Given the description of an element on the screen output the (x, y) to click on. 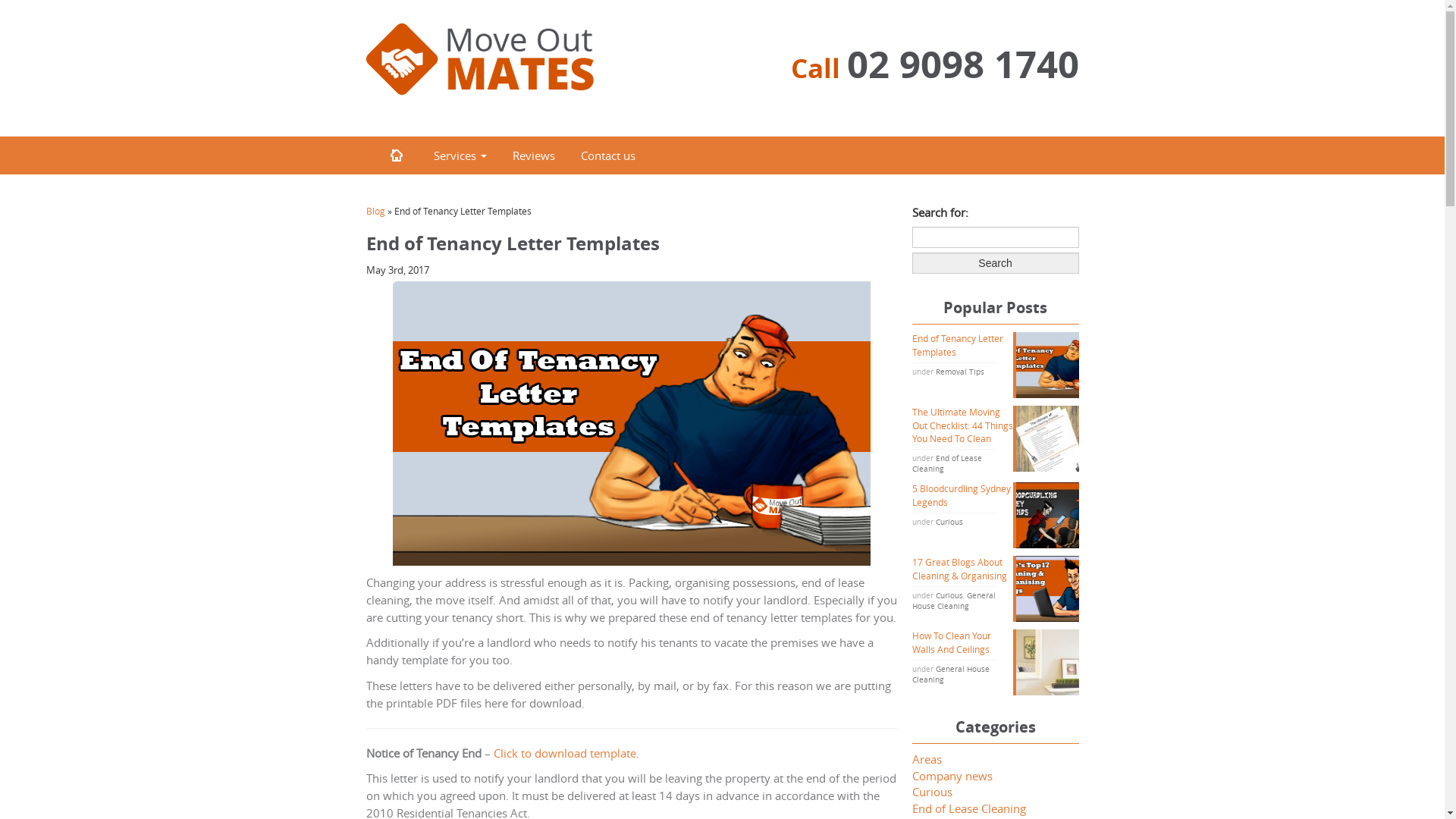
Company news Element type: text (951, 775)
Click to download template Element type: text (563, 752)
How To Clean Your Walls And Ceilings Element type: text (994, 642)
Search Element type: text (994, 262)
End of Lease Cleaning Element type: text (968, 807)
Move Out Mates Element type: hover (479, 57)
Blog Element type: text (374, 210)
 Reviews Element type: text (531, 155)
 Contact us Element type: text (605, 155)
End of Tenancy Letter Templates Element type: text (994, 344)
Removal Tips Element type: text (959, 371)
Curious Element type: text (949, 522)
5 Bloodcurdling Sydney Legends Element type: text (994, 495)
17 Great Blogs About Cleaning & Organising Element type: text (994, 568)
Areas Element type: text (926, 758)
General House Cleaning Element type: text (952, 600)
General House Cleaning Element type: text (949, 674)
Curious Element type: text (949, 595)
 Home Element type: text (395, 155)
Move Out Mates Element type: hover (479, 59)
End of Lease Cleaning Element type: text (946, 463)
Curious Element type: text (931, 791)
02 9098 1740 Element type: text (962, 63)
 Services Element type: text (457, 155)
